Given the description of an element on the screen output the (x, y) to click on. 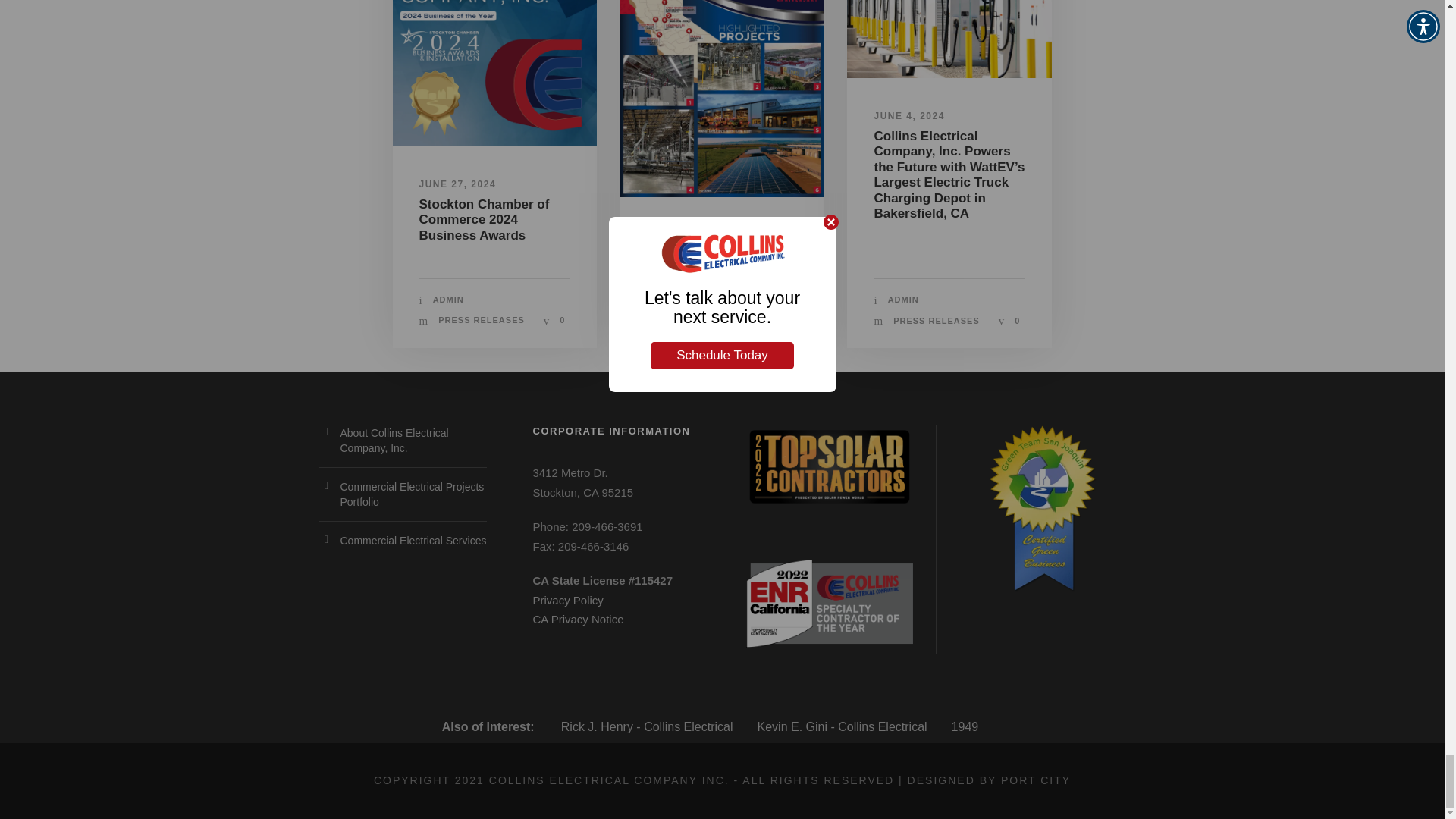
Posts by admin (448, 298)
Posts by admin (676, 299)
Collins Honorree Highlight (494, 73)
